Given the description of an element on the screen output the (x, y) to click on. 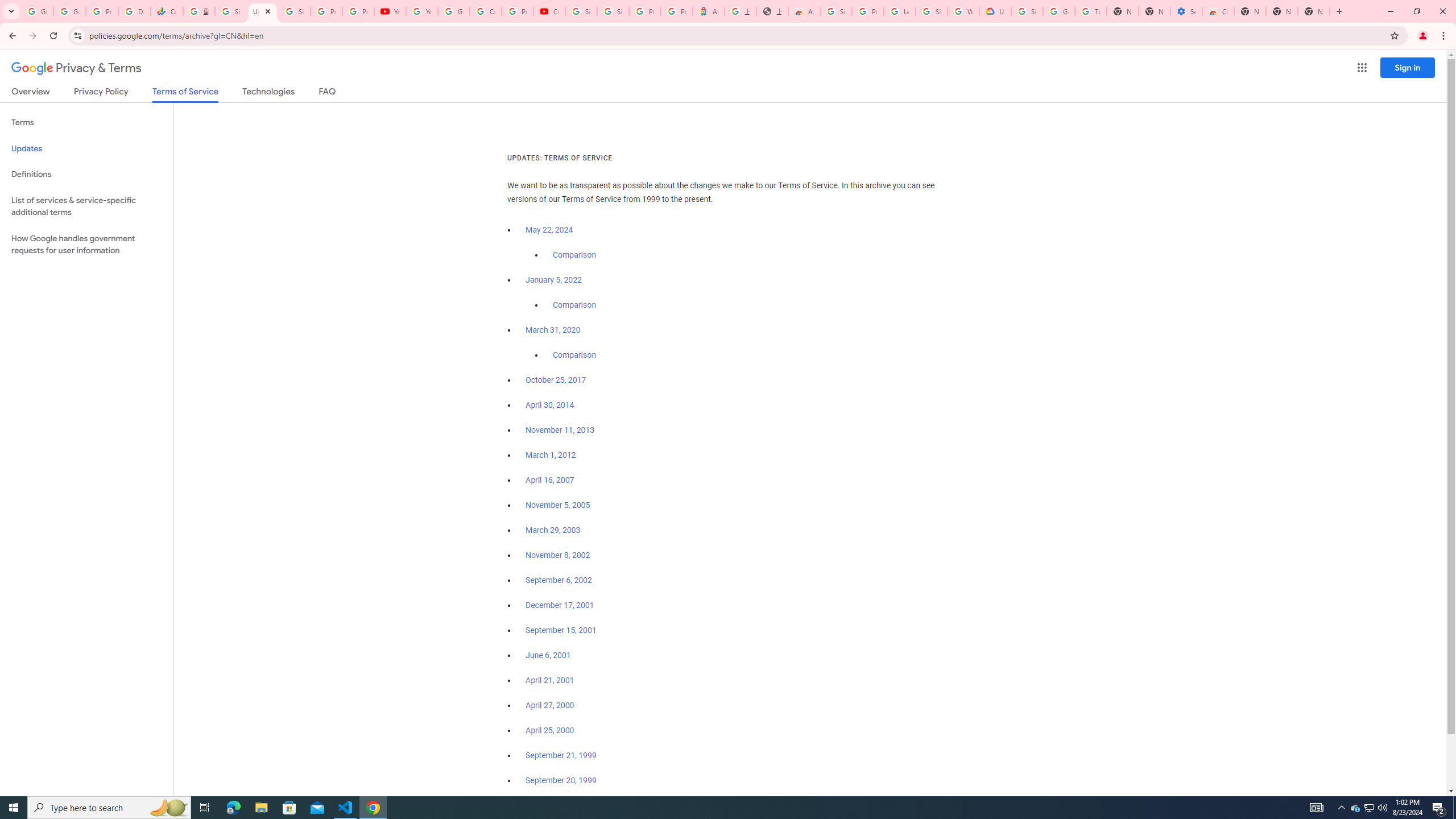
March 31, 2020 (552, 330)
Comparison (574, 355)
September 15, 2001 (560, 629)
March 29, 2003 (552, 530)
November 5, 2005 (557, 505)
Sign in - Google Accounts (230, 11)
November 11, 2013 (560, 430)
May 22, 2024 (549, 230)
April 21, 2001 (550, 679)
September 21, 1999 (560, 755)
